Given the description of an element on the screen output the (x, y) to click on. 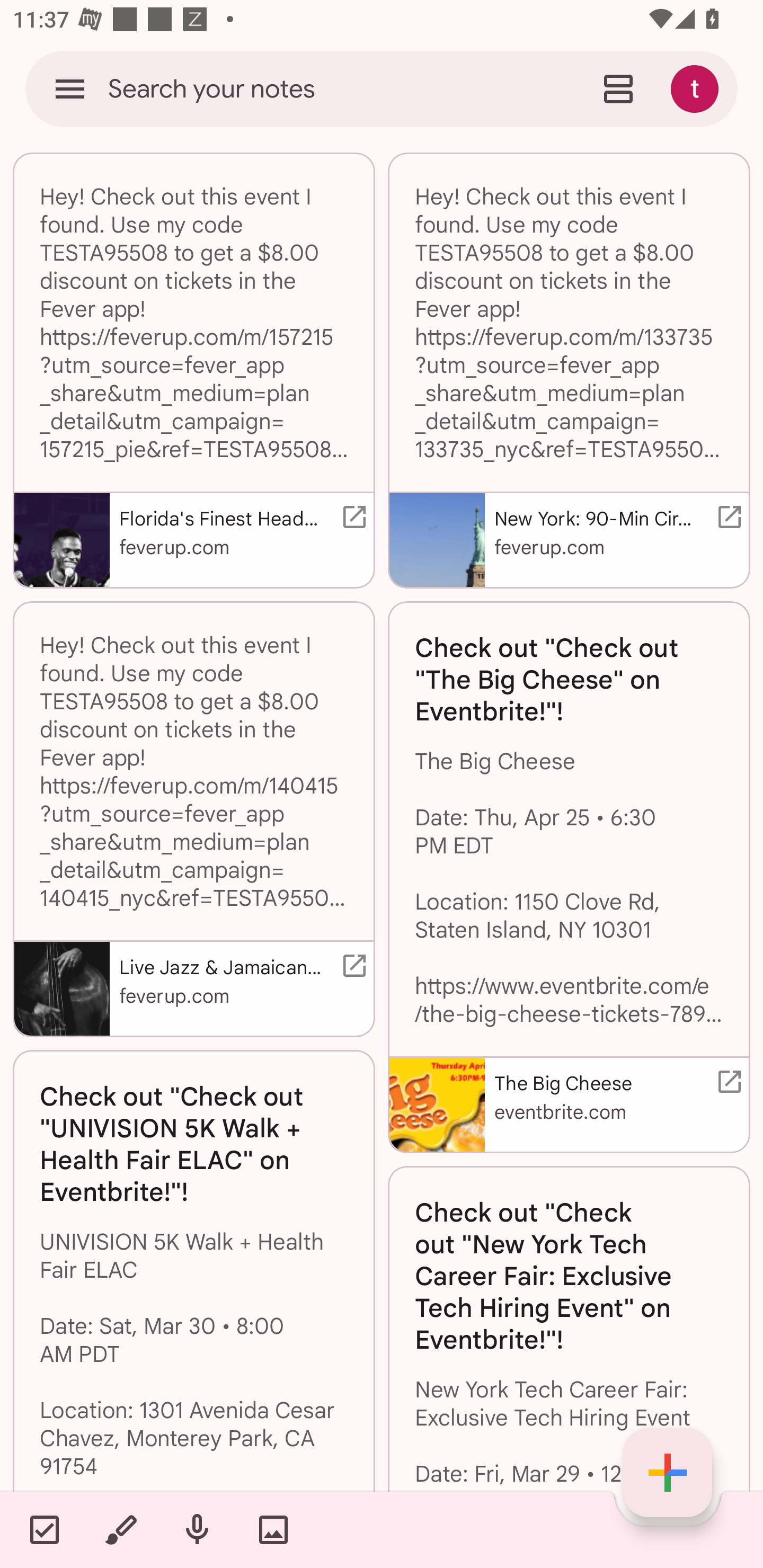
Open navigation drawer (70, 88)
Single-column view (617, 88)
Account and settings. (696, 88)
Link preview popout (350, 517)
Link preview popout (726, 517)
Link preview popout (350, 965)
Link preview popout (726, 1081)
New text note (667, 1472)
New list (44, 1529)
New drawing note (120, 1529)
New audio note (196, 1529)
New photo note (273, 1529)
